Given the description of an element on the screen output the (x, y) to click on. 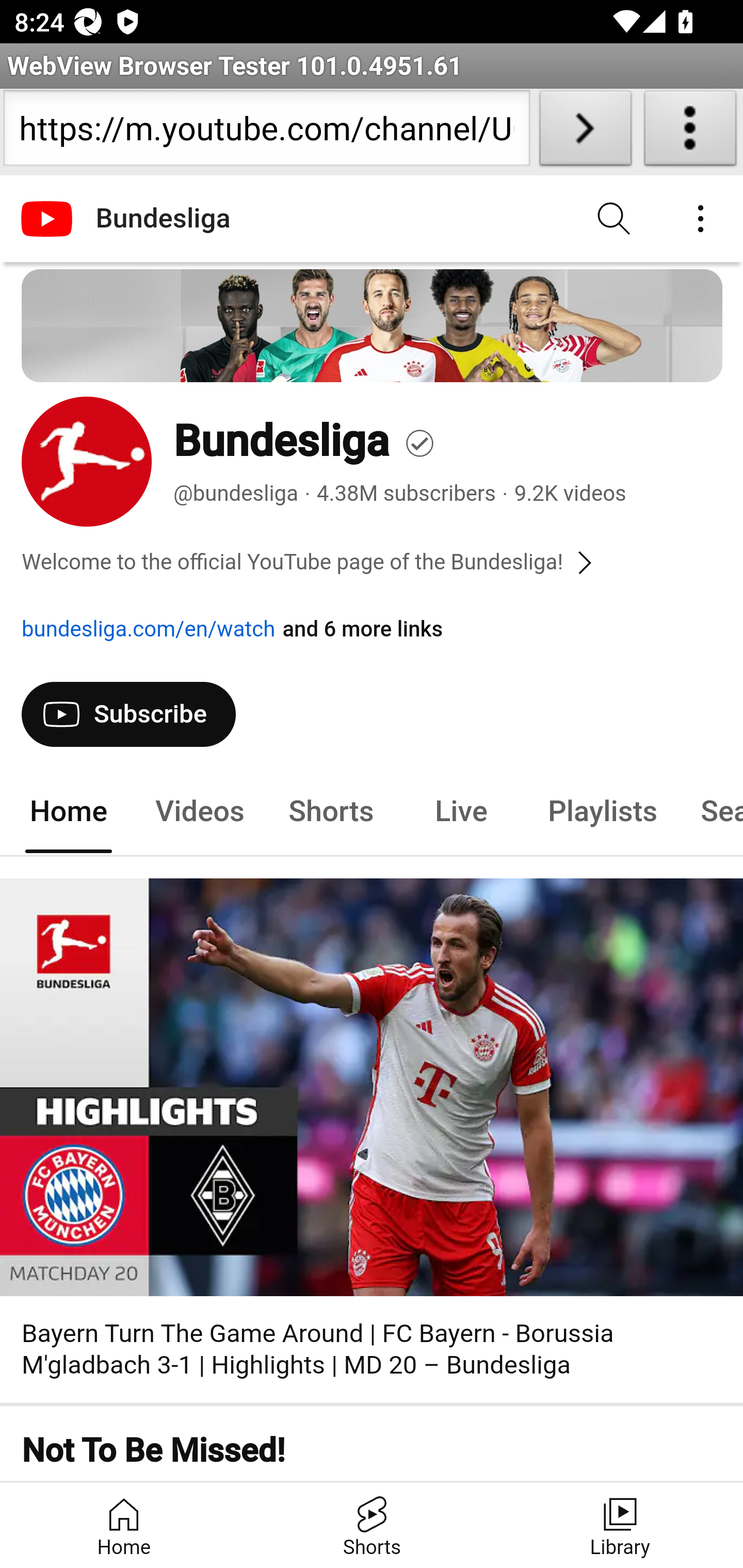
Load URL (585, 132)
About WebView (690, 132)
YouTube (48, 219)
Search YouTube (614, 219)
Account (700, 219)
bundesliga.com/en/watch (148, 629)
and 6 more links (362, 629)
Subscribe (128, 713)
Home (69, 811)
Videos (200, 811)
Shorts (330, 811)
Live (460, 811)
Playlists (602, 811)
Home (124, 1524)
Shorts (371, 1524)
Library (618, 1524)
